Given the description of an element on the screen output the (x, y) to click on. 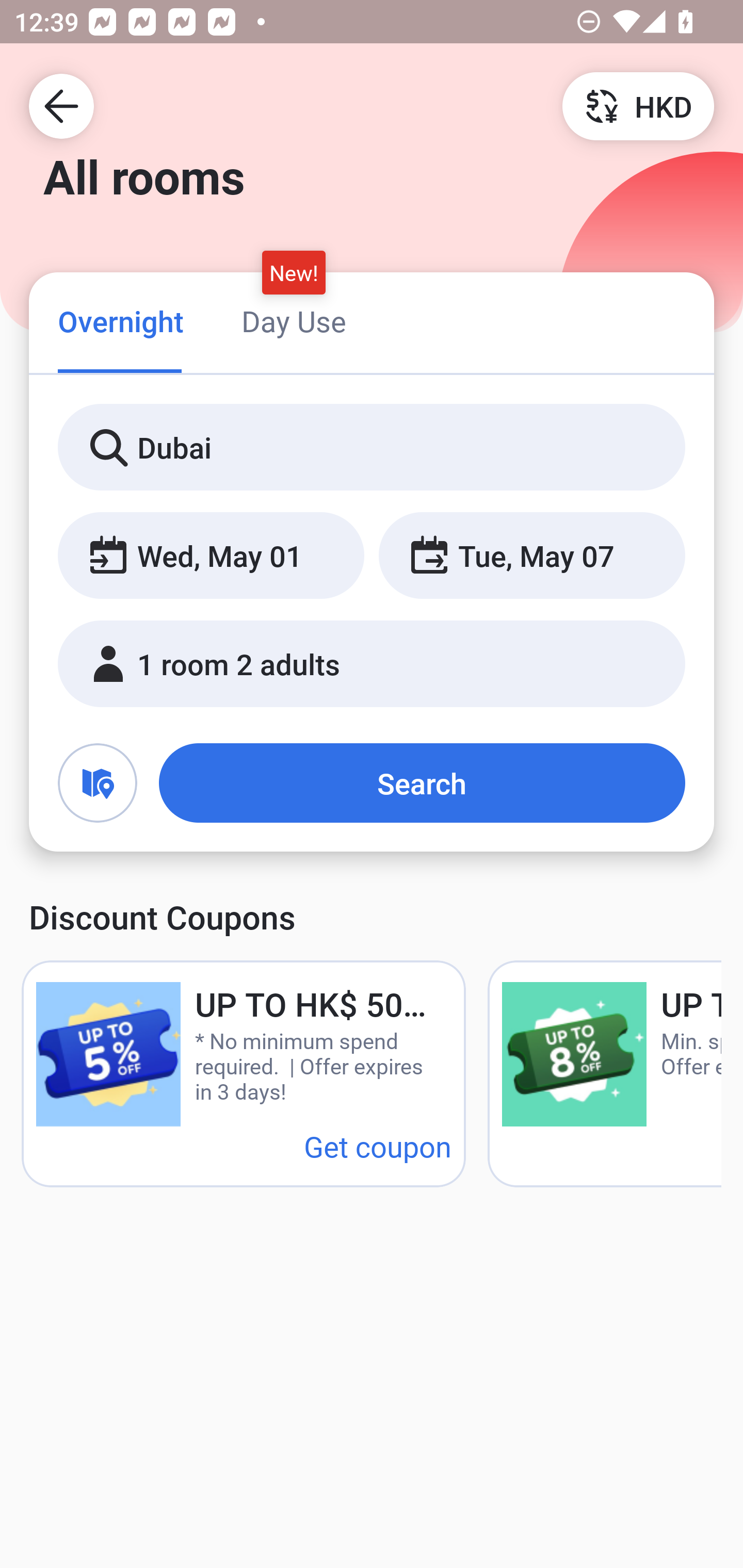
HKD (638, 105)
New! (294, 272)
Day Use (293, 321)
Dubai (371, 447)
Wed, May 01 (210, 555)
Tue, May 07 (531, 555)
1 room 2 adults (371, 663)
Search (422, 783)
Get coupon (377, 1146)
